Given the description of an element on the screen output the (x, y) to click on. 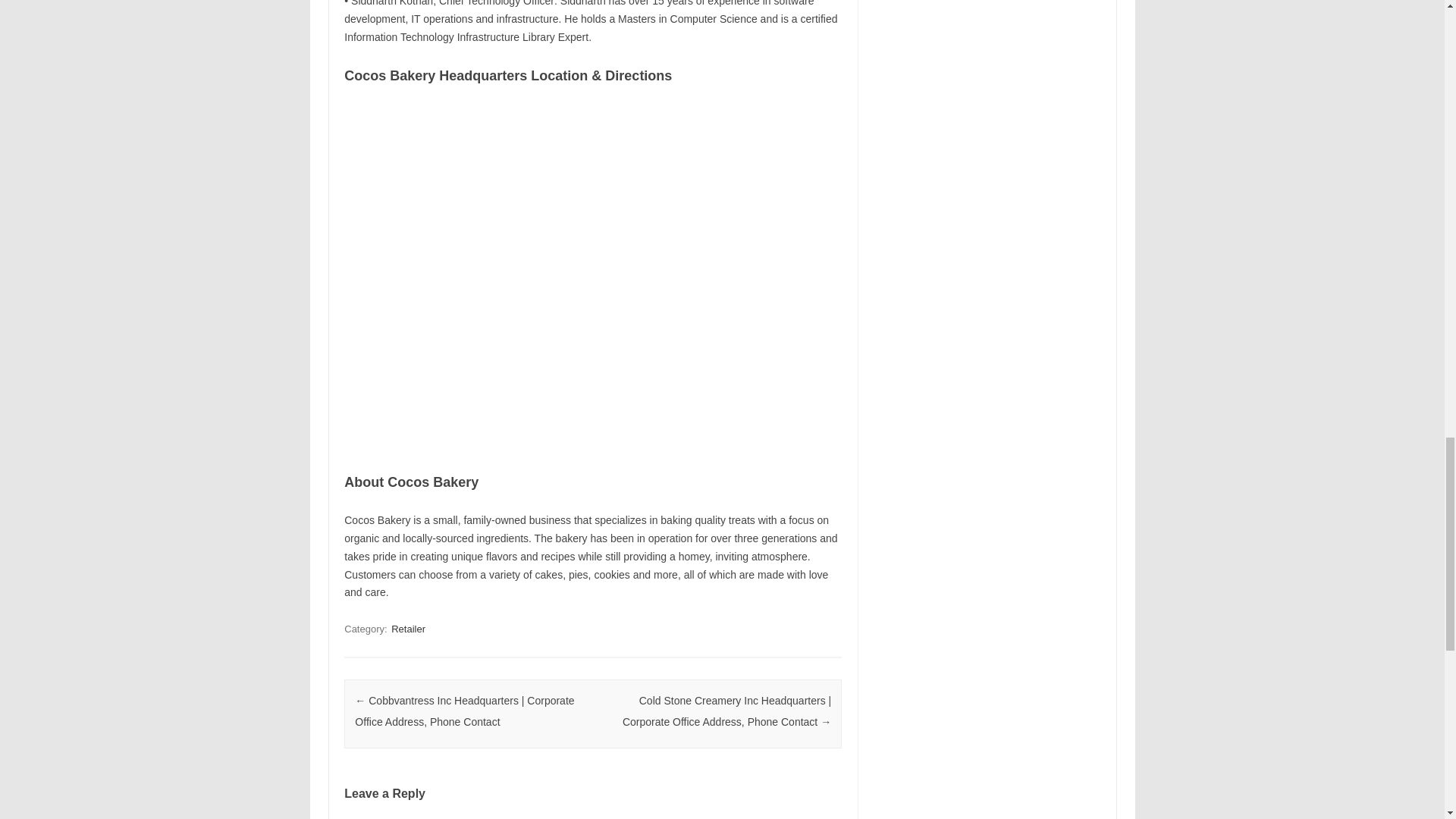
Retailer (408, 628)
